Given the description of an element on the screen output the (x, y) to click on. 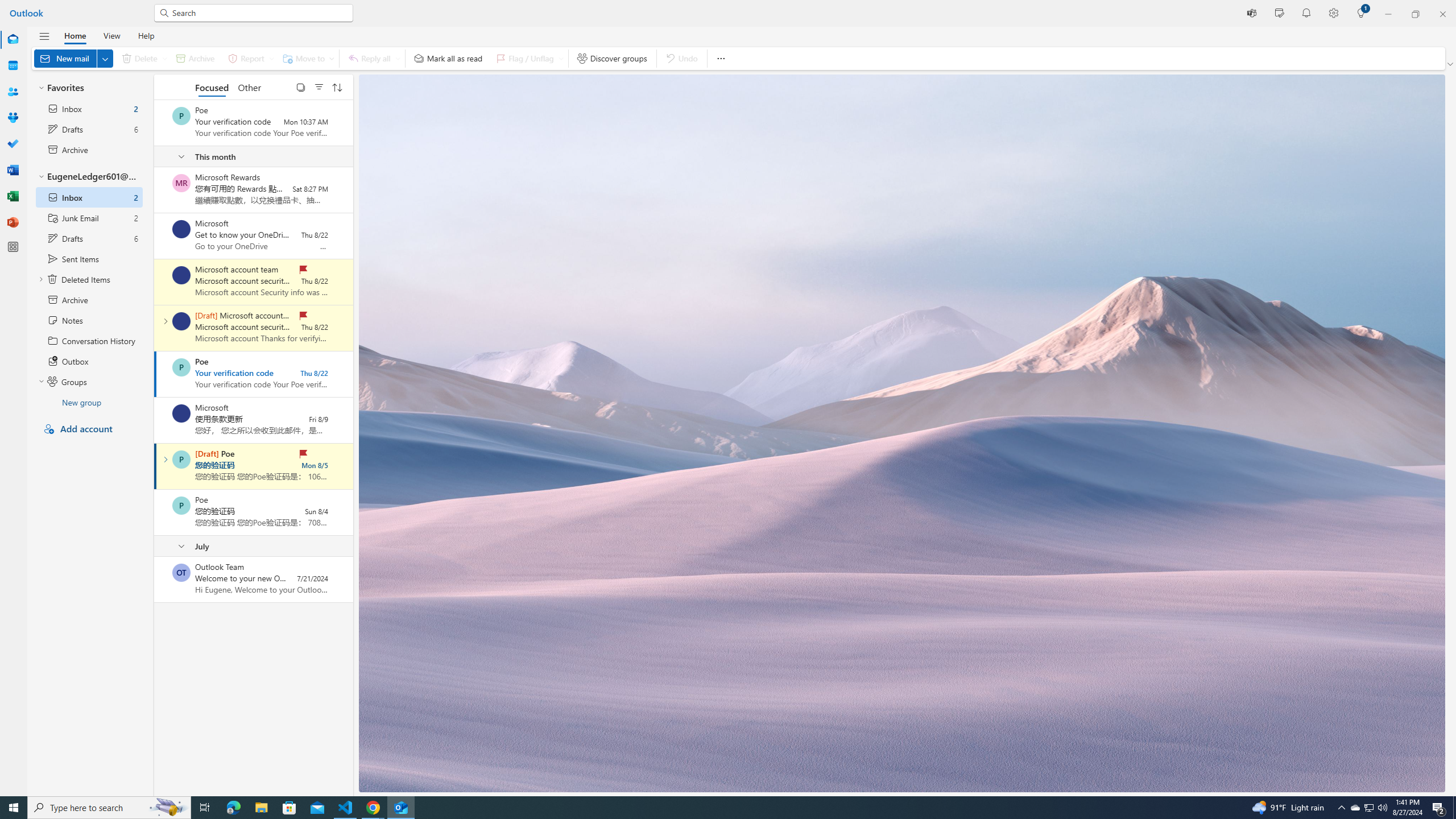
Delete (141, 58)
Expand to see more respond options (398, 58)
Mark all as read (448, 58)
Groups (12, 117)
PowerPoint (12, 222)
Excel (12, 196)
Select a conversation (180, 572)
Expand to see more report options (271, 58)
Ribbon display options (1450, 63)
Mail (12, 39)
To Do (12, 143)
